Given the description of an element on the screen output the (x, y) to click on. 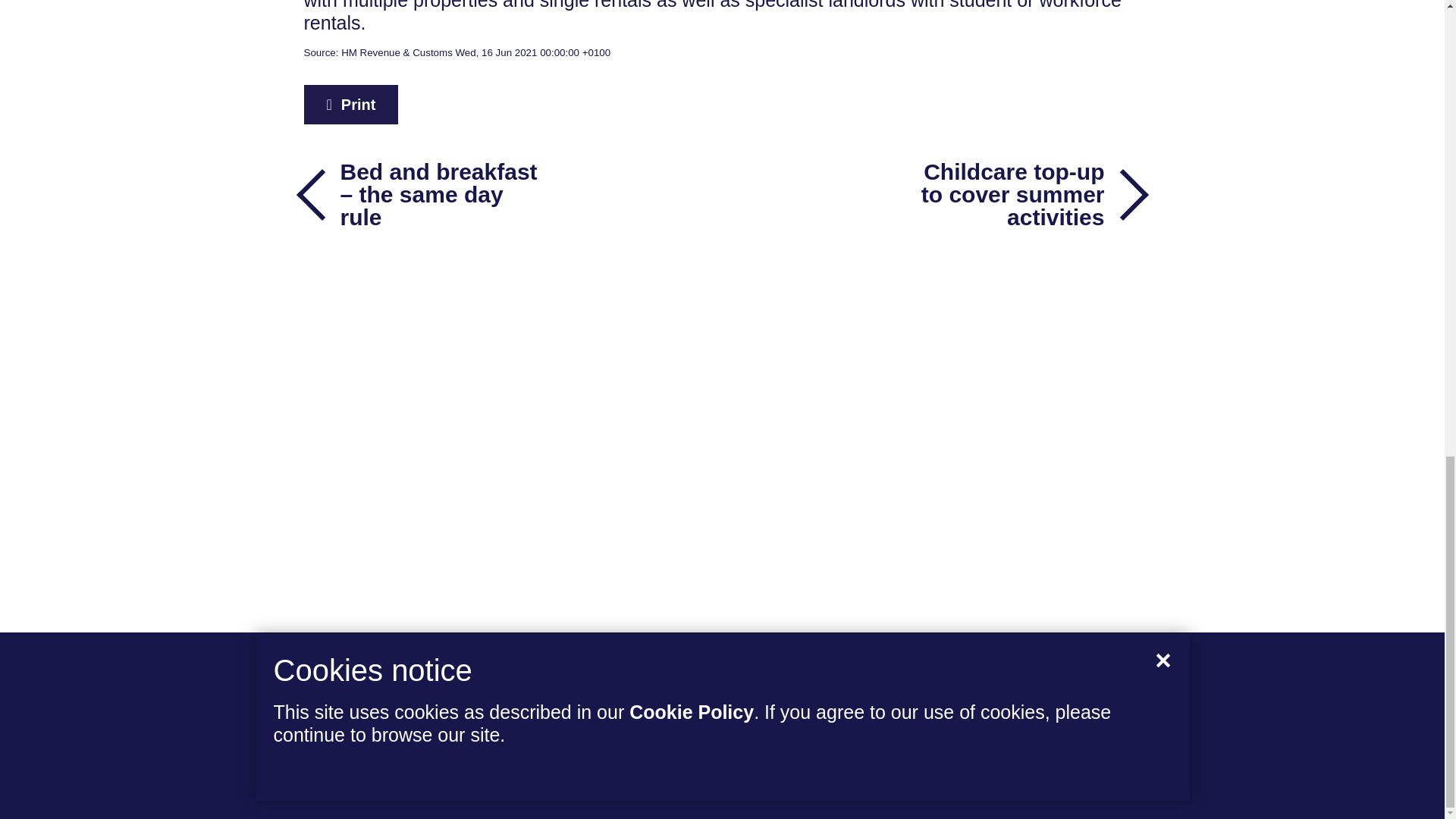
Childcare top-up to cover summer activities (1019, 194)
Privacy policy (895, 789)
Get Our Newsletter (400, 728)
Join Our Team (379, 690)
Childcare top-up to cover summer activities (1019, 194)
www.auditregister.org.uk (575, 789)
MCC (1116, 730)
